Given the description of an element on the screen output the (x, y) to click on. 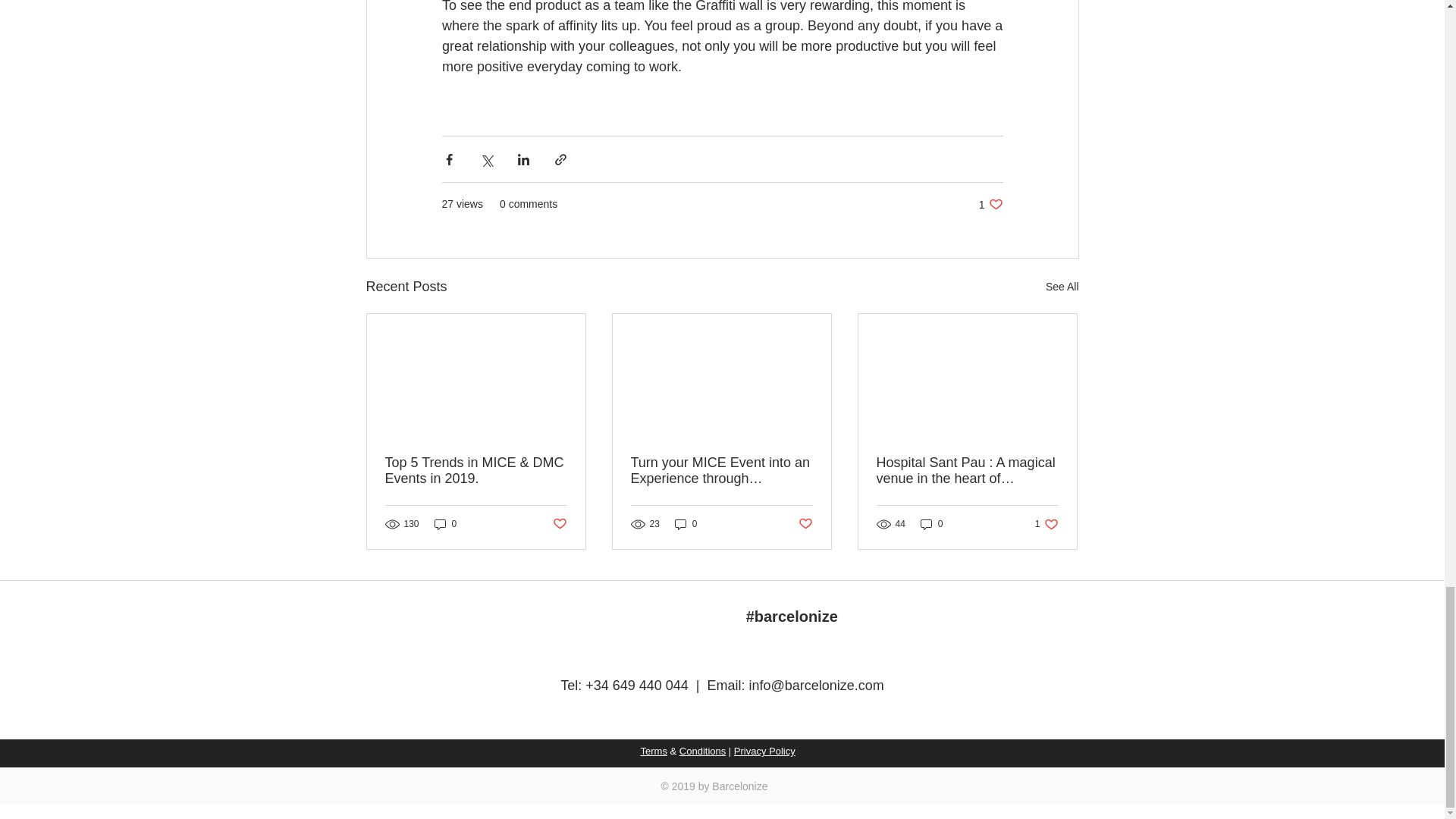
Post not marked as liked (558, 523)
Post not marked as liked (1046, 523)
0 (804, 523)
0 (685, 523)
See All (990, 204)
0 (445, 523)
Turn your MICE Event into an Experience through decoration. (1061, 287)
